Given the description of an element on the screen output the (x, y) to click on. 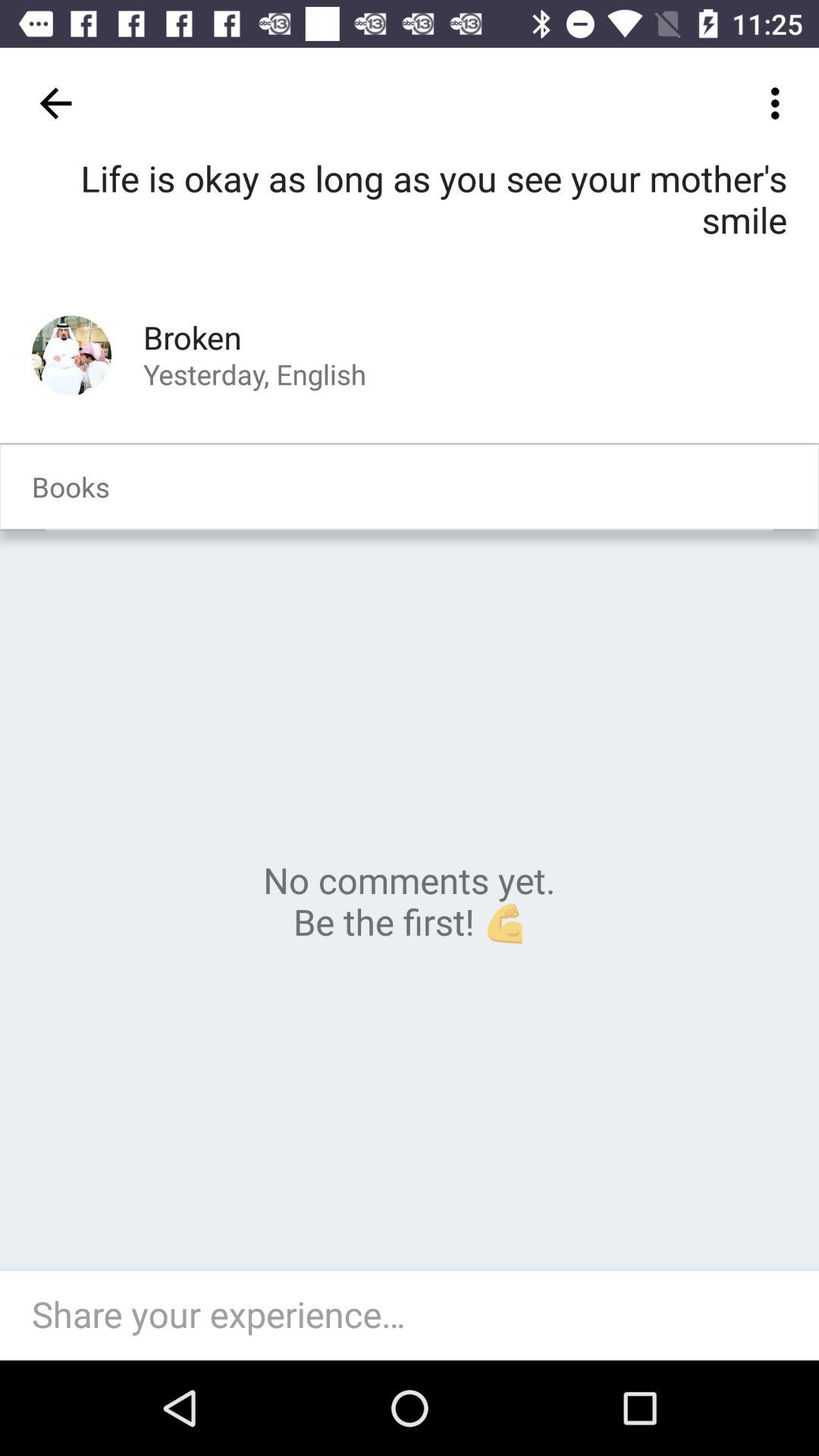
flip to life is okay (409, 221)
